Given the description of an element on the screen output the (x, y) to click on. 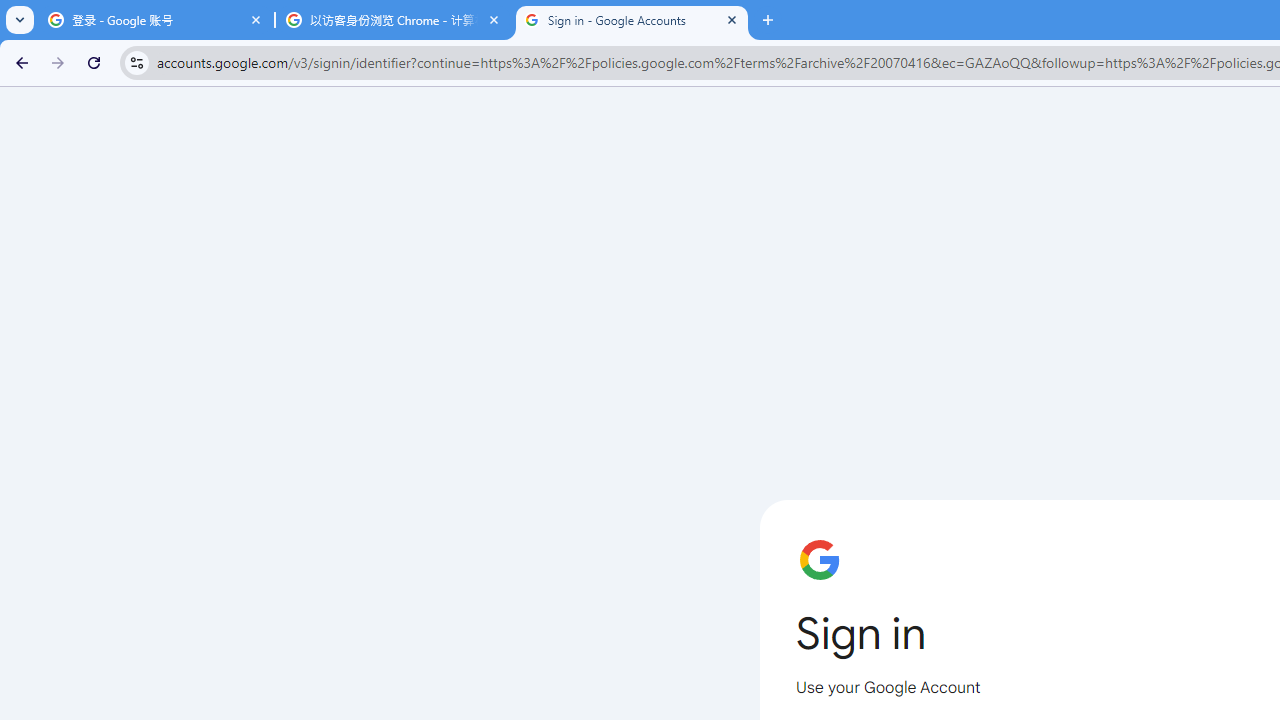
Sign in - Google Accounts (632, 20)
